Given the description of an element on the screen output the (x, y) to click on. 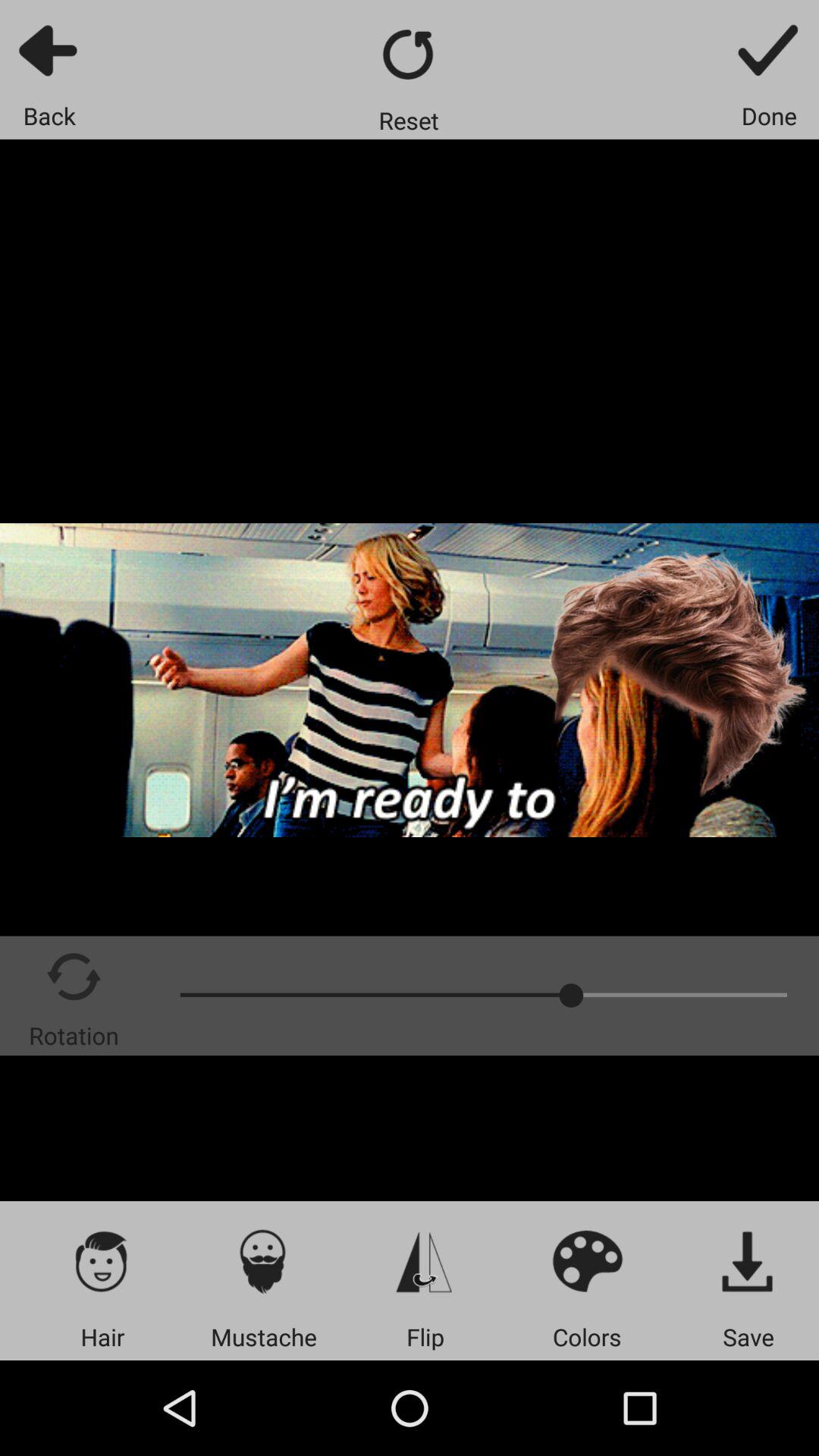
press the item above hair app (102, 1260)
